Given the description of an element on the screen output the (x, y) to click on. 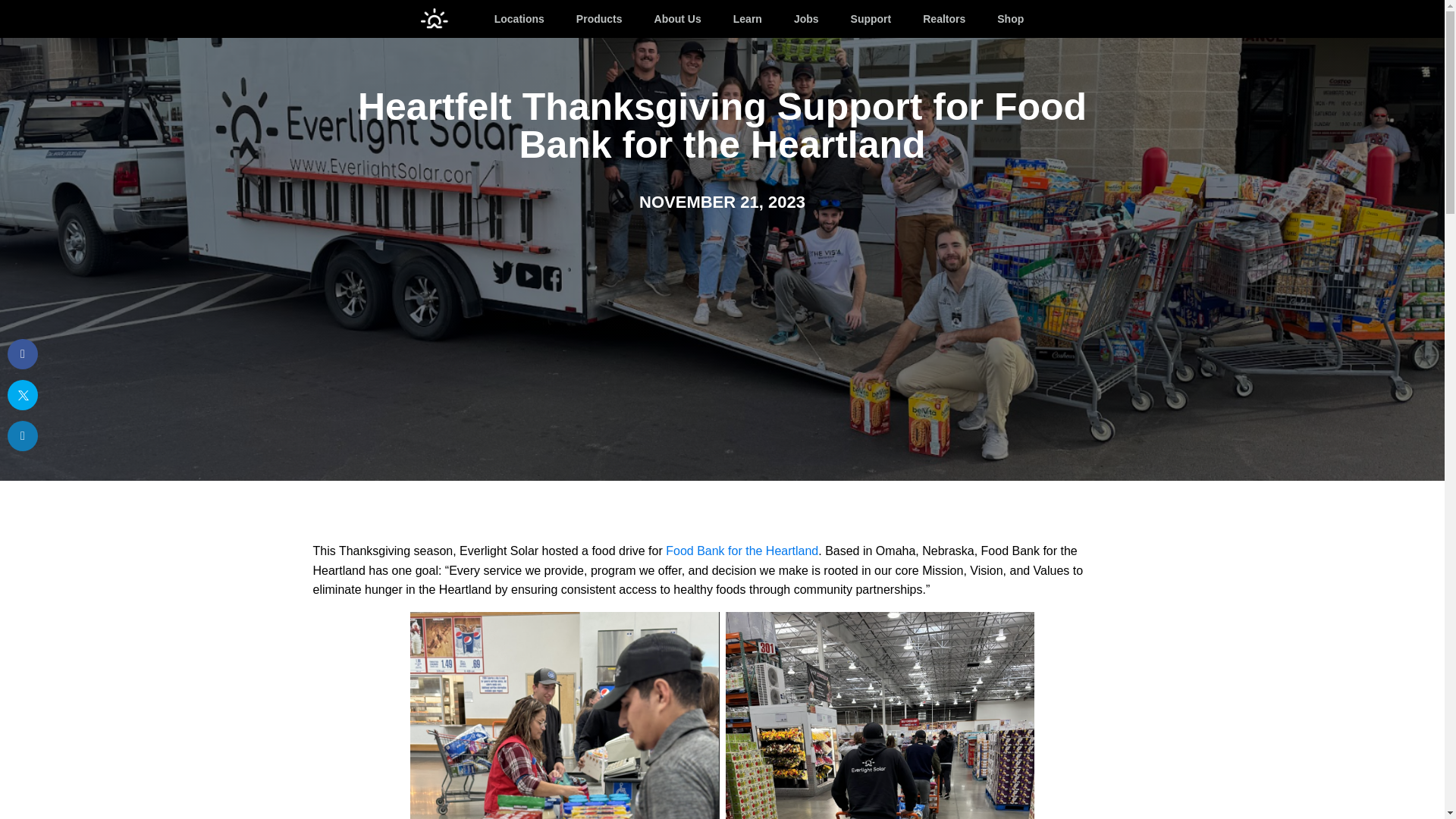
Products (591, 21)
Locations (511, 21)
Jobs (798, 21)
Food Bank for the Heartland (741, 550)
Learn (739, 21)
About Us (670, 21)
Realtors (936, 21)
Shop (1002, 21)
Support (863, 21)
